Given the description of an element on the screen output the (x, y) to click on. 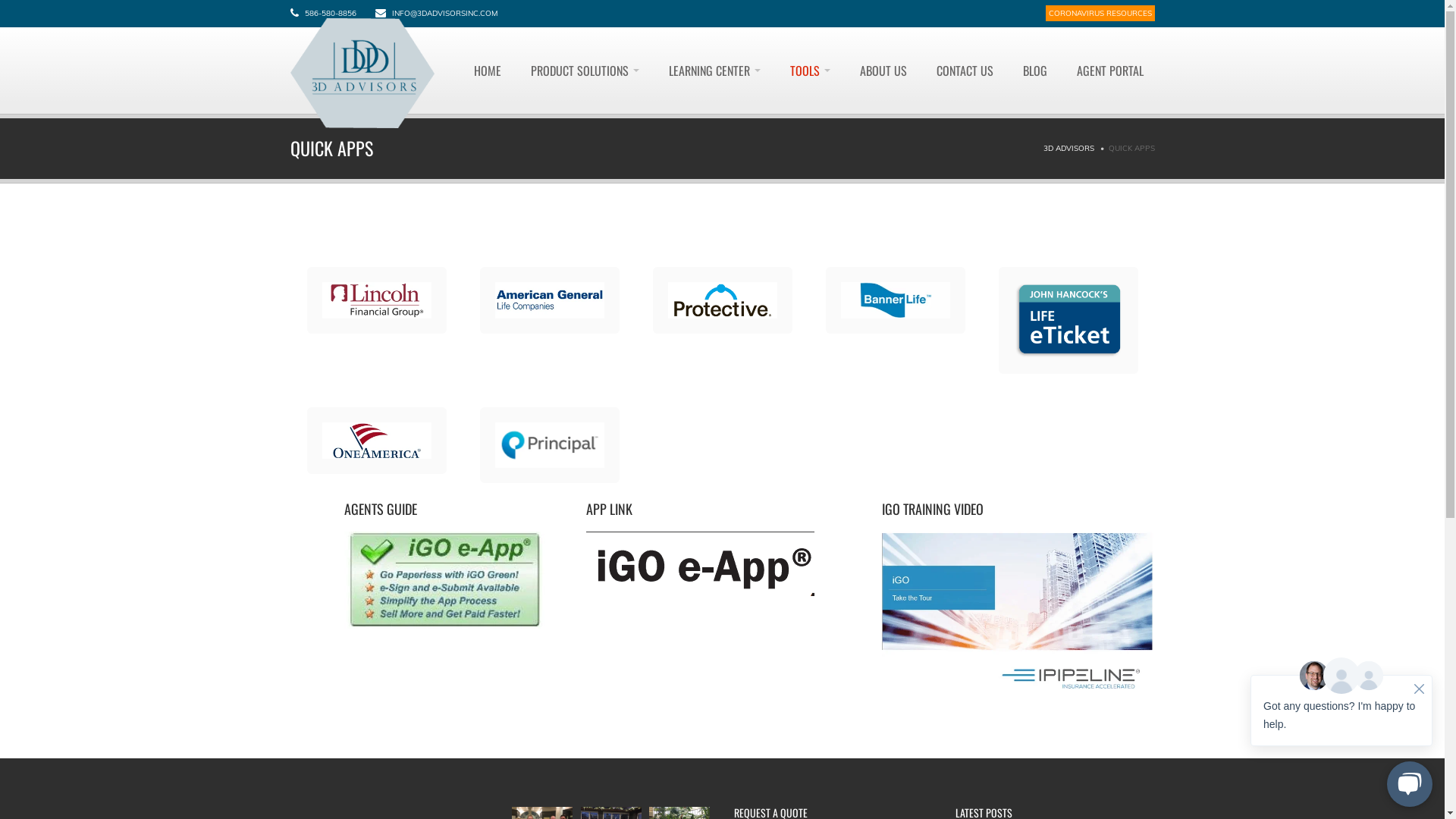
BLOG Element type: text (1034, 70)
HOME Element type: text (487, 70)
TOOLS Element type: text (809, 70)
CONTACT US Element type: text (964, 70)
CORONAVIRUS RESOURCES Element type: text (1099, 13)
3D ADVISORS Element type: text (1068, 148)
PRODUCT SOLUTIONS Element type: text (583, 70)
LEARNING CENTER Element type: text (713, 70)
ABOUT US Element type: text (882, 70)
INFO@3DADVISORSINC.COM Element type: text (443, 13)
AGENT PORTAL Element type: text (1109, 70)
